Given the description of an element on the screen output the (x, y) to click on. 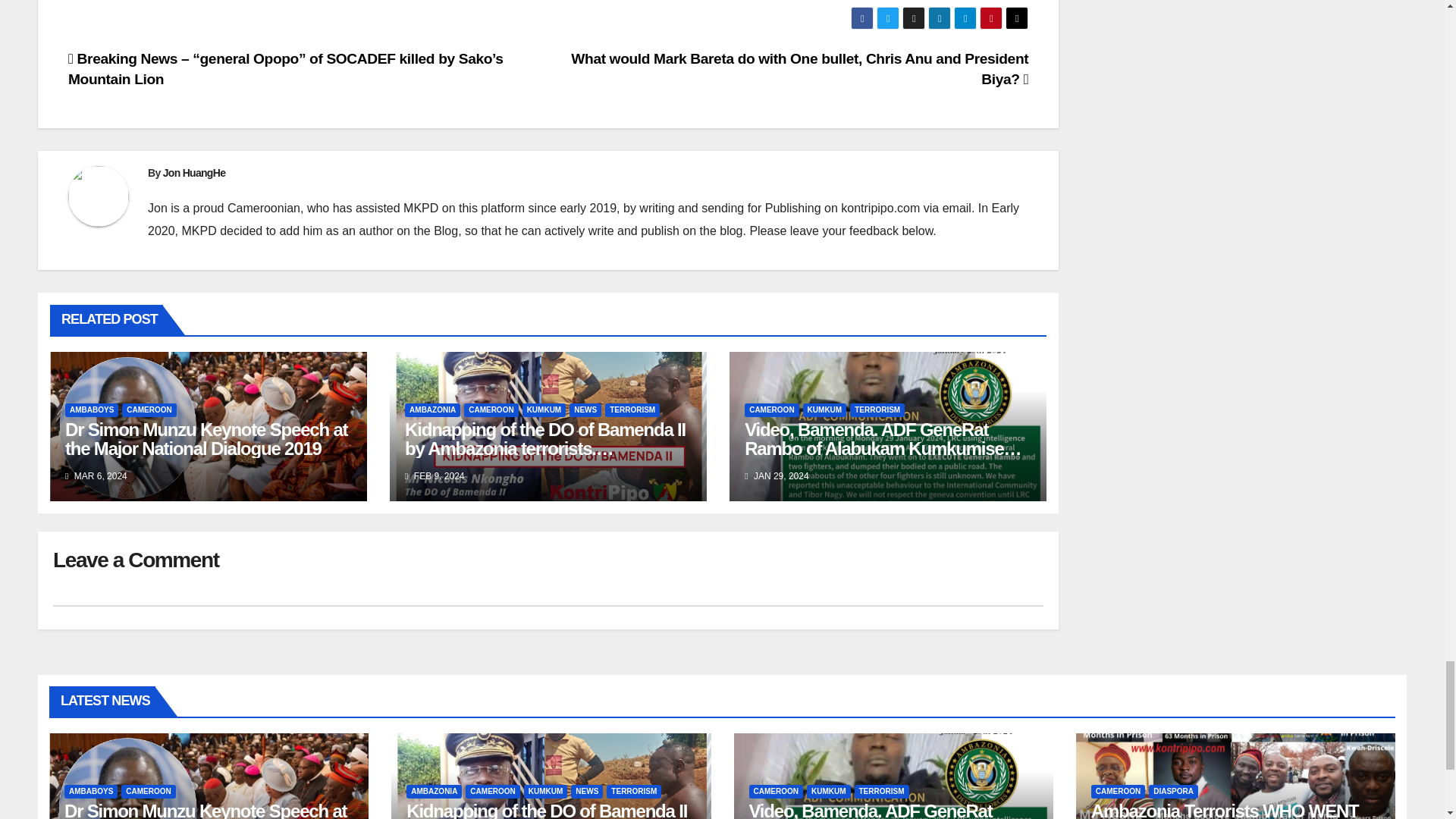
NEWS (585, 409)
AMBABOYS (91, 409)
Jon HuangHe (194, 173)
AMBAZONIA (432, 409)
KUMKUM (544, 409)
CAMEROON (149, 409)
